Given the description of an element on the screen output the (x, y) to click on. 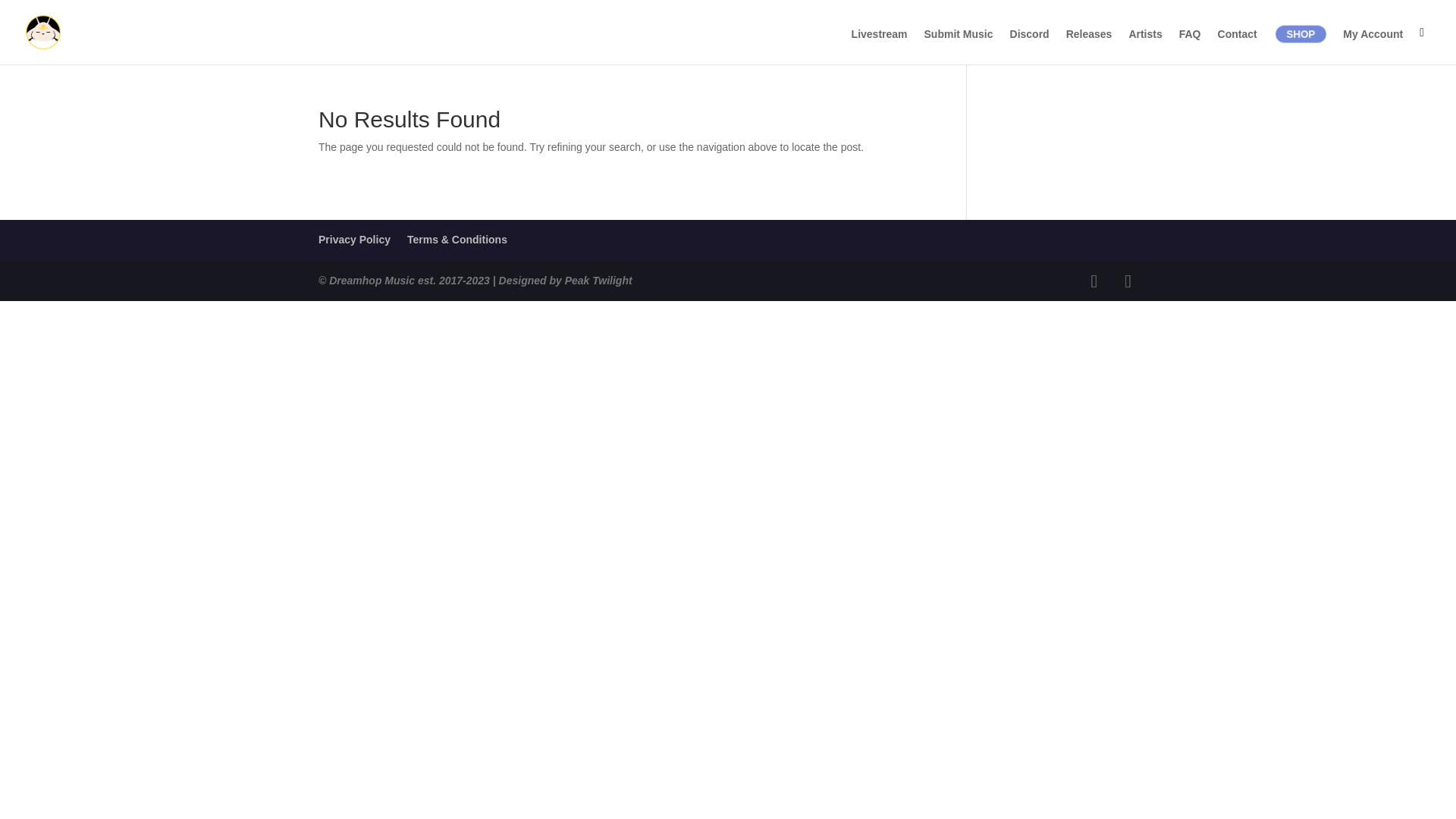
Privacy Policy (354, 239)
Submit Music (958, 46)
Livestream (879, 46)
My Account (1372, 46)
Discord (1029, 46)
Contact (1237, 46)
Releases (1088, 46)
Artists (1144, 46)
SHOP (1302, 34)
